Given the description of an element on the screen output the (x, y) to click on. 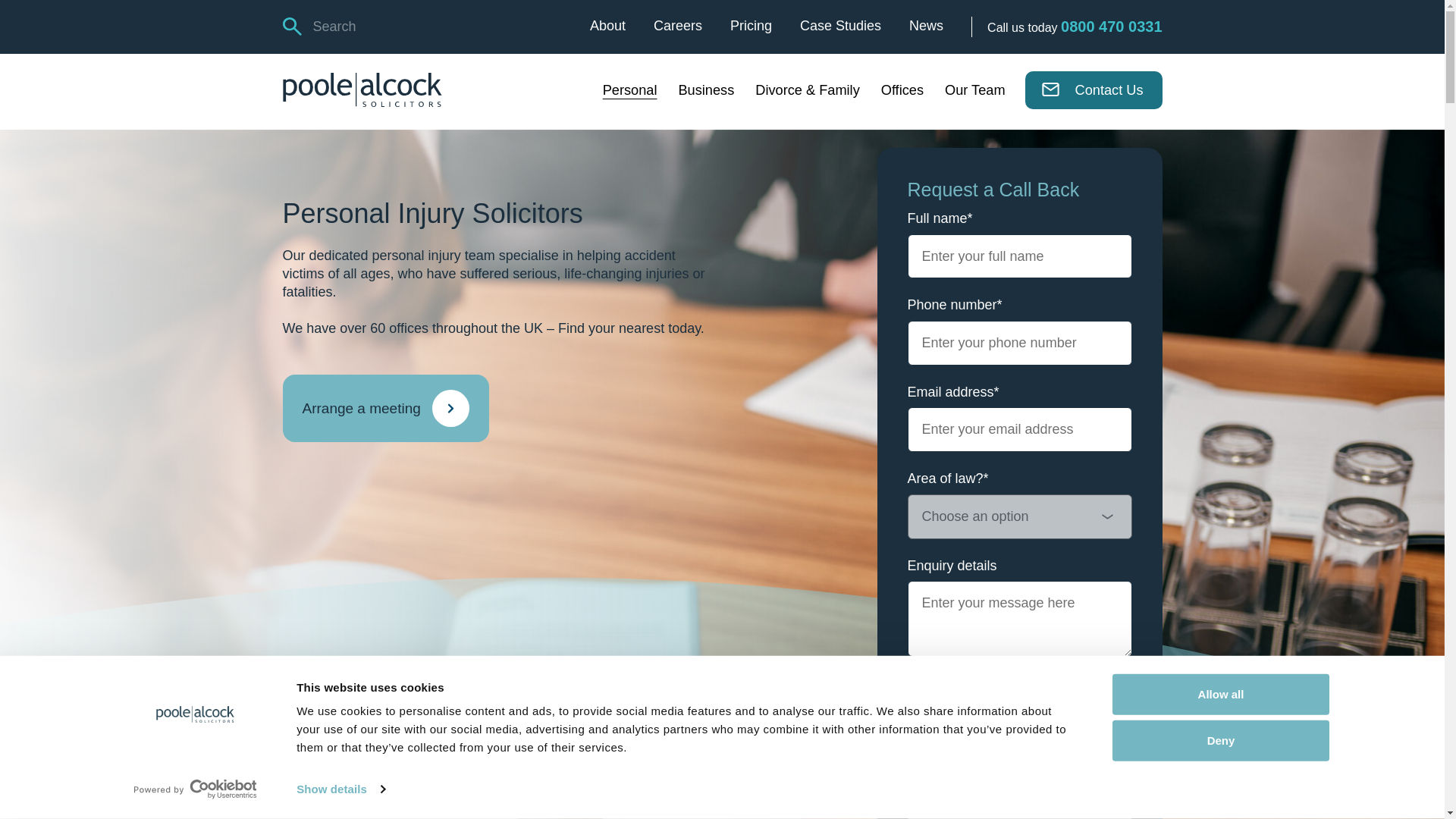
Show details (340, 789)
